Given the description of an element on the screen output the (x, y) to click on. 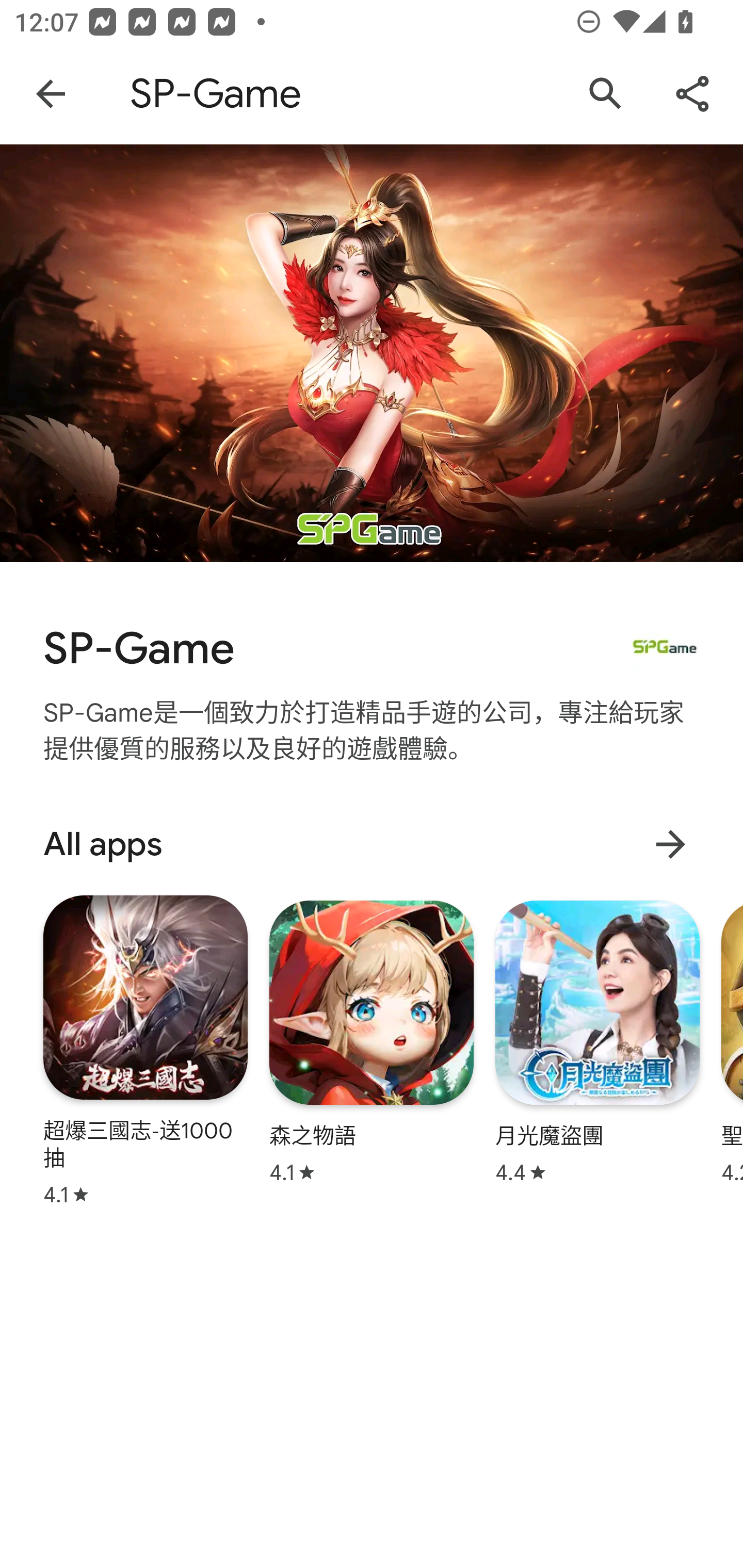
Navigate up (50, 93)
Search Google Play (605, 93)
Share (692, 93)
All apps More results for All apps (371, 844)
More results for All apps (670, 844)
超爆三國志-送1000抽
Star rating: 4.1
 (145, 1050)
森之物語
Star rating: 4.1
 (371, 1041)
月光魔盜團
Star rating: 4.4
 (597, 1041)
